Given the description of an element on the screen output the (x, y) to click on. 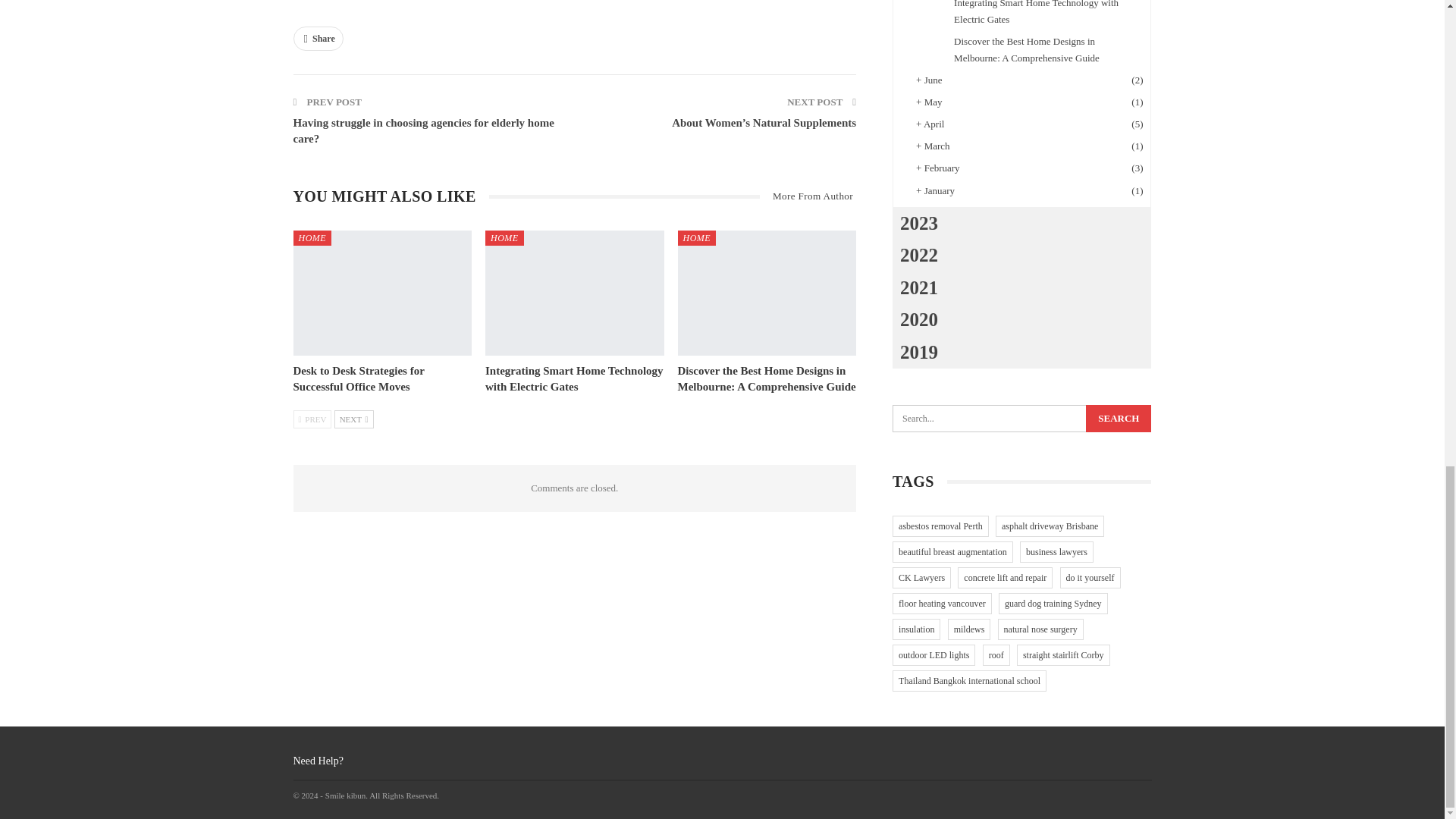
YOU MIGHT ALSO LIKE (389, 196)
Integrating Smart Home Technology with Electric Gates (573, 378)
Desk to Desk Strategies for Successful Office Moves (357, 378)
Integrating Smart Home Technology with Electric Gates (573, 378)
NEXT (354, 419)
Next (354, 419)
Desk to Desk Strategies for Successful Office Moves (381, 292)
More From Author (808, 196)
PREV (311, 419)
Desk to Desk Strategies for Successful Office Moves (357, 378)
Having struggle in choosing agencies for elderly home care? (422, 130)
Search (1118, 418)
